Given the description of an element on the screen output the (x, y) to click on. 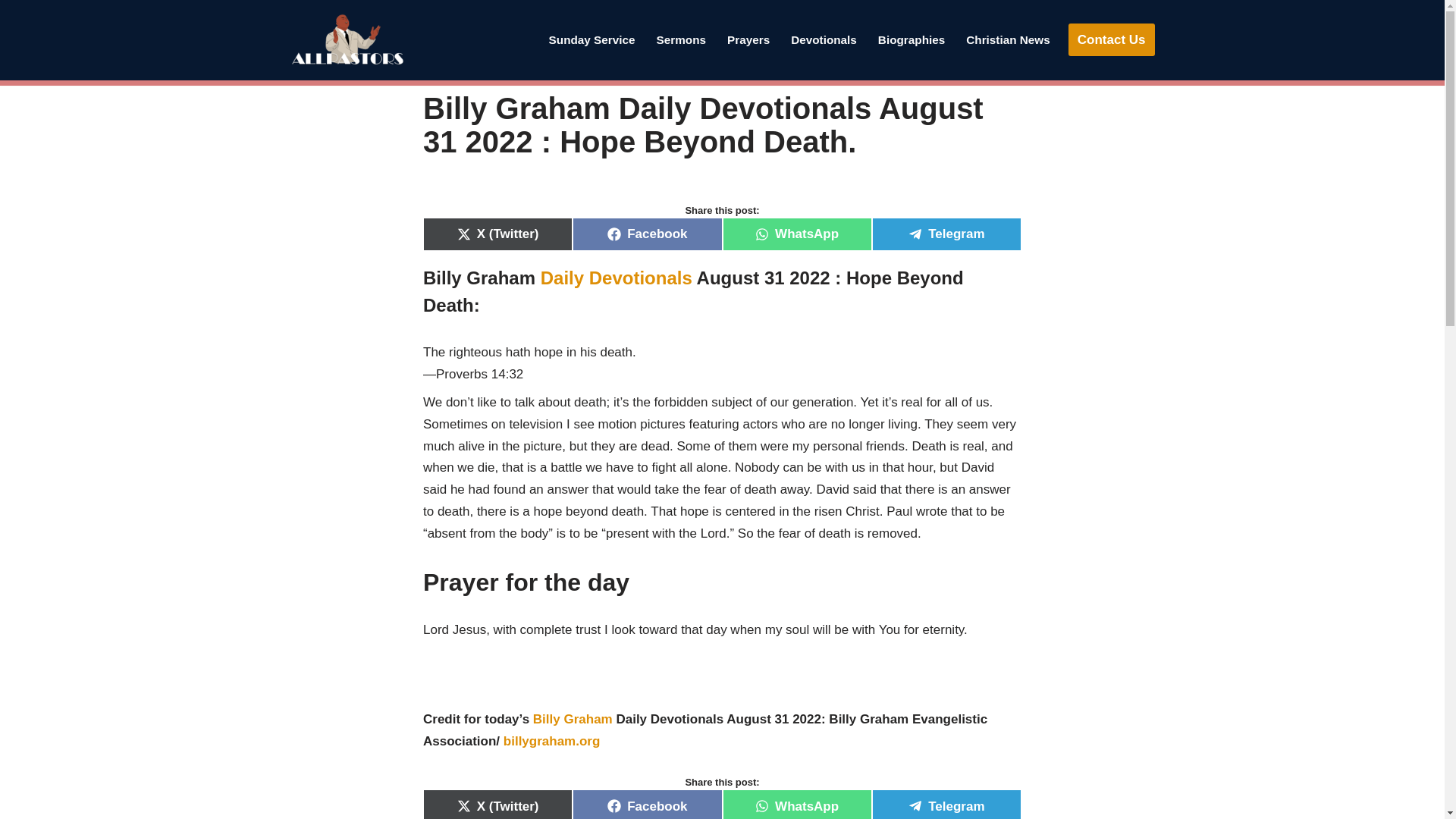
Prayers (748, 39)
Sunday Service (591, 39)
Telegram (947, 804)
Billy Graham (572, 718)
WhatsApp (796, 804)
Skip to content (11, 31)
Devotionals (823, 39)
billygraham.org (551, 740)
Facebook (647, 804)
Daily Devotionals (616, 277)
Facebook (647, 233)
Biographies (910, 39)
Telegram (947, 233)
Sermons (681, 39)
SERMONS ONLINE (681, 39)
